Given the description of an element on the screen output the (x, y) to click on. 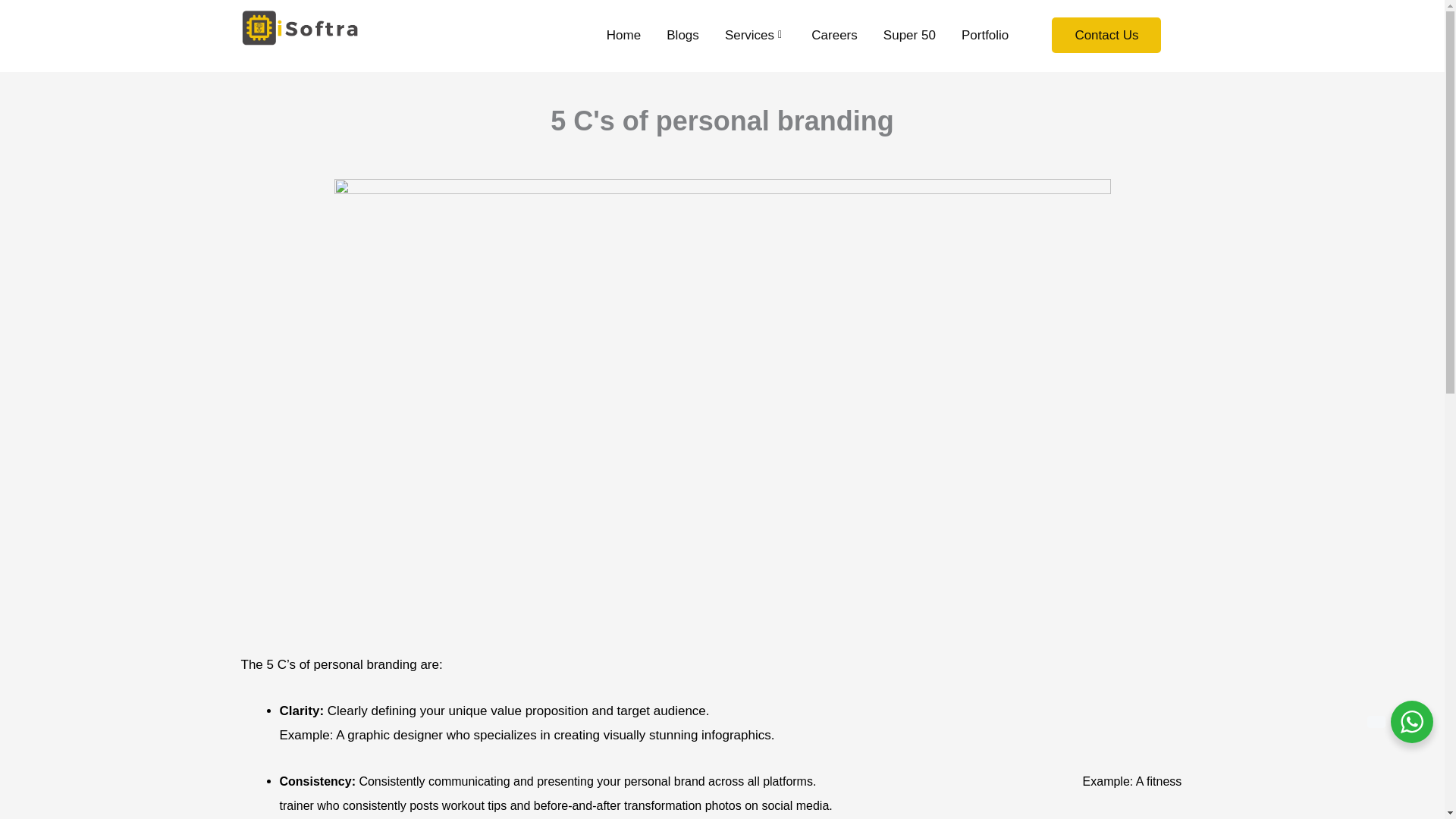
Portfolio (984, 35)
Home (622, 35)
Contact Us (1105, 35)
Super 50 (909, 35)
Blogs (682, 35)
Services (755, 35)
Careers (833, 35)
